Given the description of an element on the screen output the (x, y) to click on. 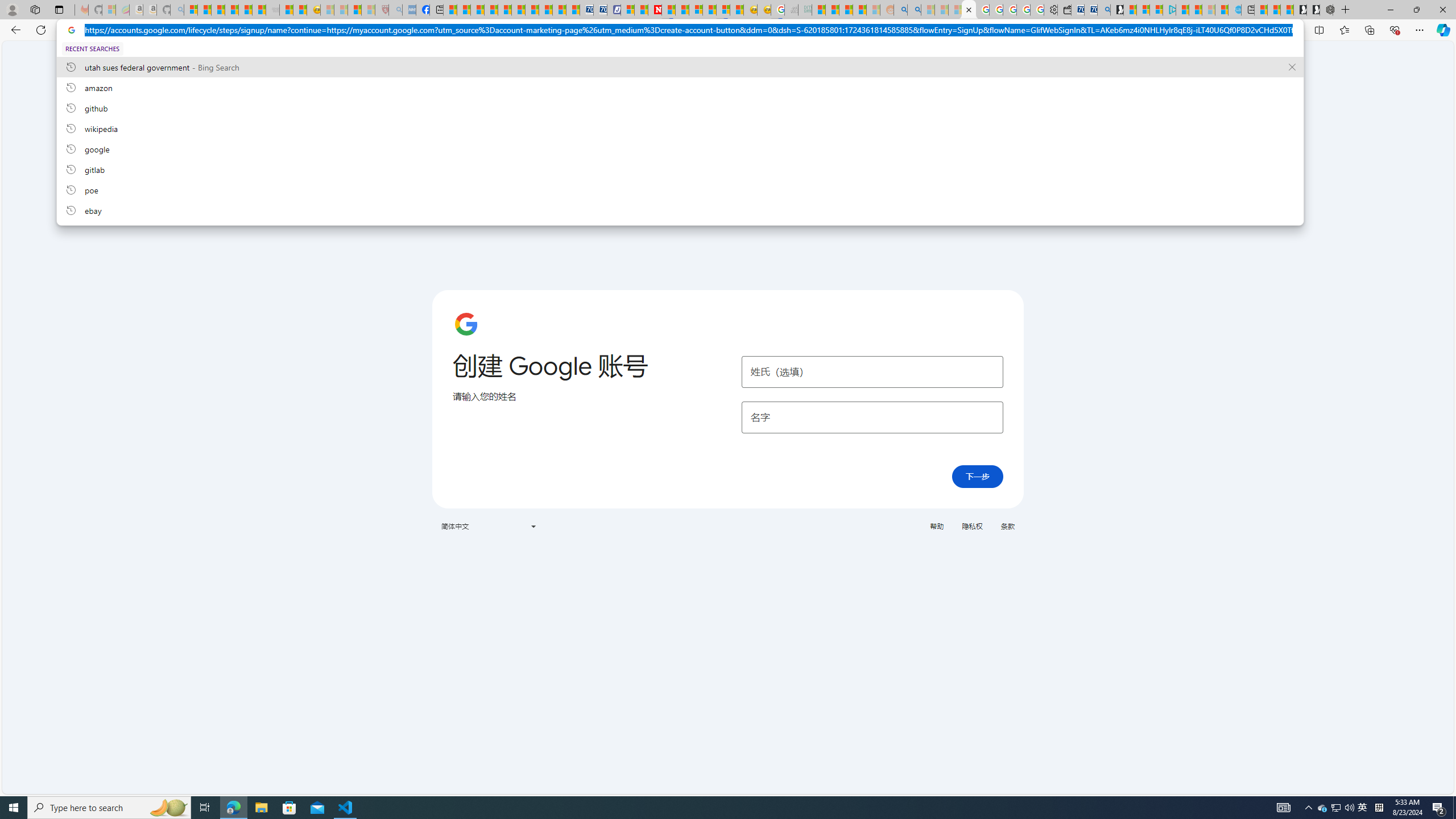
wikipedia, recent searches from history (679, 127)
google, recent searches from history (679, 148)
